Given the description of an element on the screen output the (x, y) to click on. 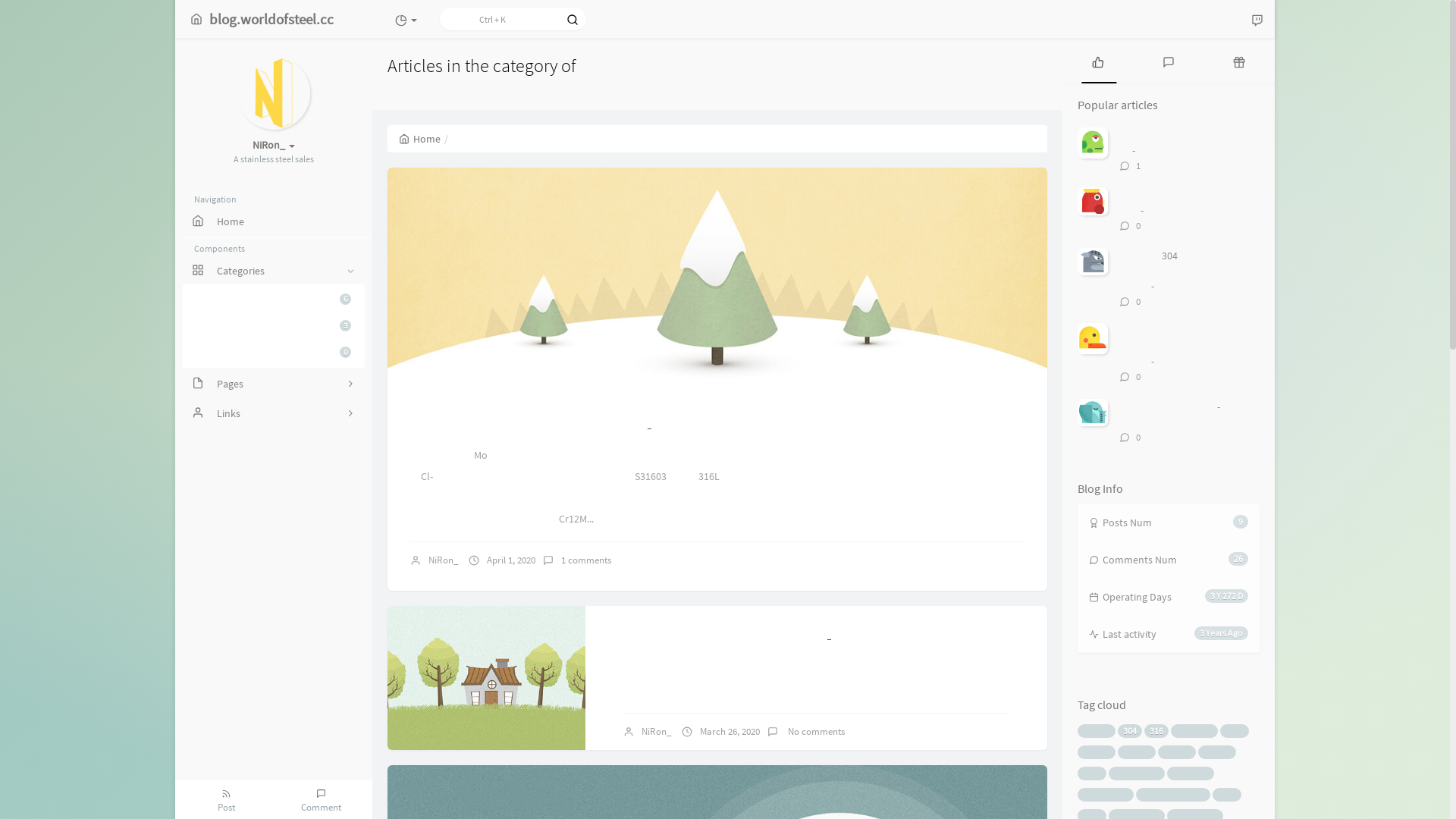
Links Element type: text (273, 413)
Comment Element type: text (320, 798)
Pages Element type: text (273, 383)
Post Element type: text (225, 798)
Categories Element type: text (273, 270)
Home Element type: text (419, 138)
blog.worldofsteel.cc Element type: text (261, 18)
NiRon_ Element type: text (443, 559)
No comments Element type: text (814, 730)
304 Element type: text (1129, 730)
NiRon_ Element type: text (656, 730)
NiRon_
A stainless steel sales Element type: text (273, 147)
Popular articles Element type: text (1097, 60)
1 comments Element type: text (586, 559)
316 Element type: text (1156, 730)
Home Element type: text (273, 221)
Random articles Element type: text (1239, 60)
Latest comments Element type: text (1167, 60)
